Given the description of an element on the screen output the (x, y) to click on. 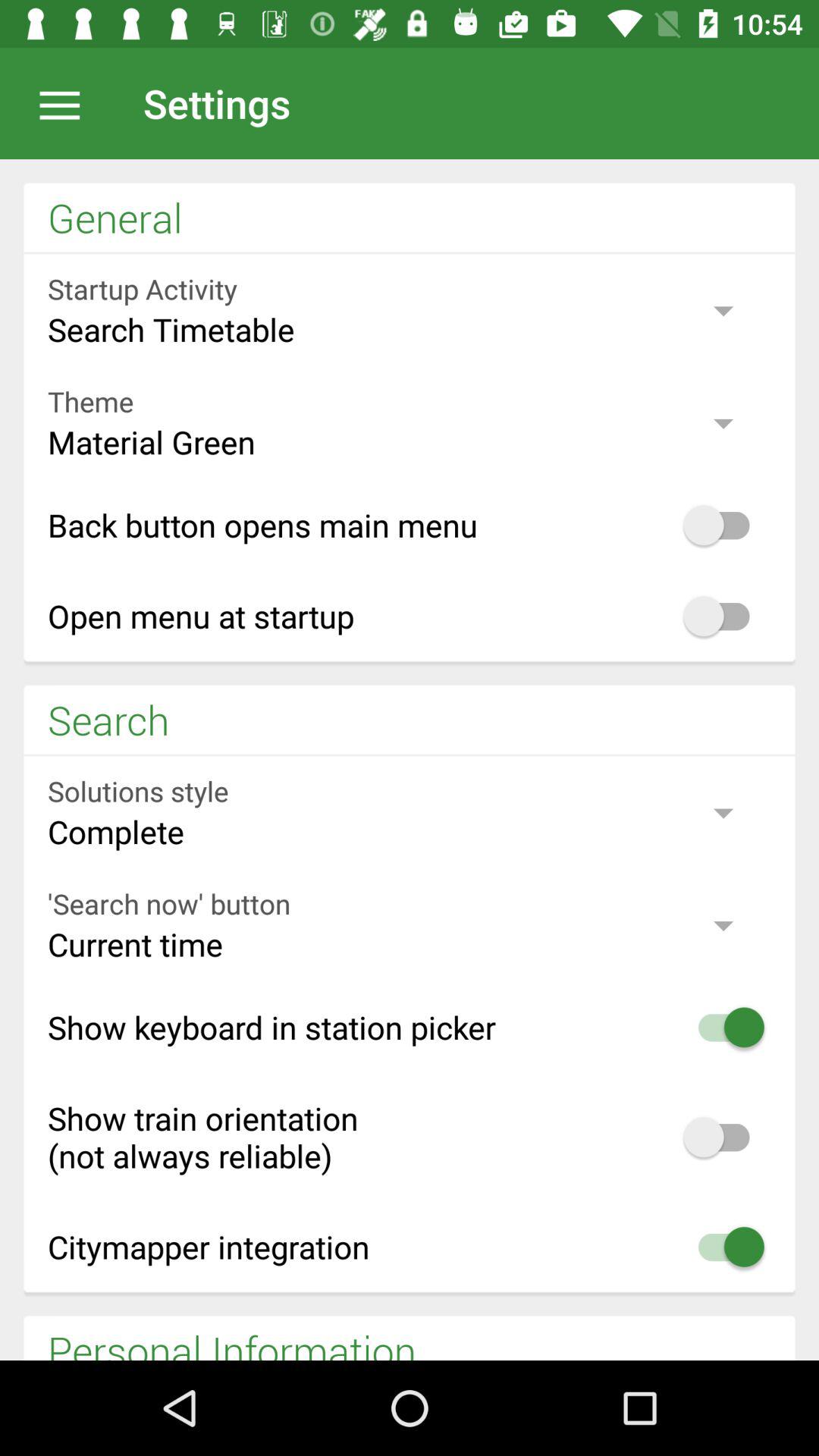
menu option (67, 103)
